Given the description of an element on the screen output the (x, y) to click on. 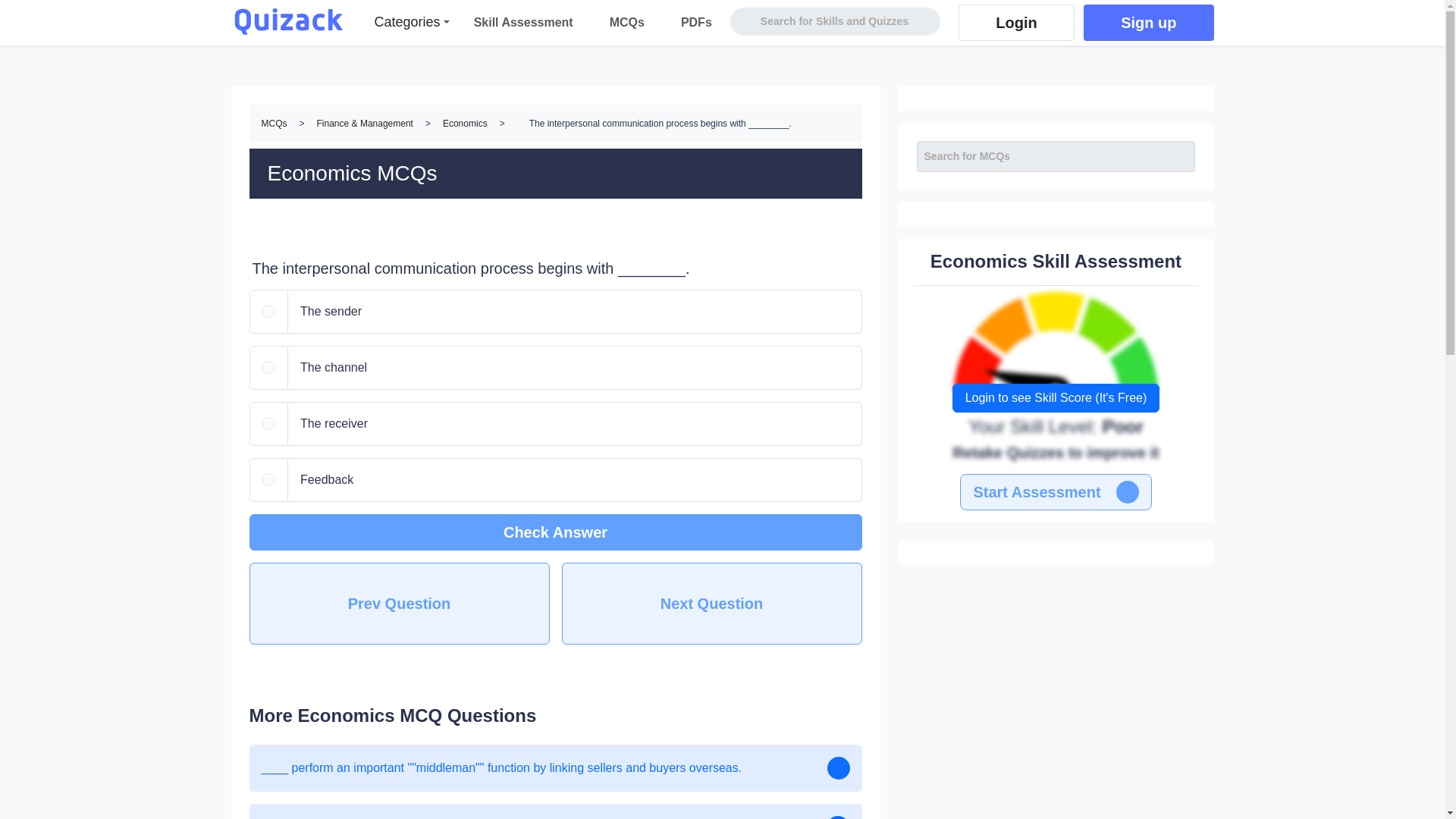
on (269, 367)
on (269, 423)
on (269, 479)
on (269, 311)
